Given the description of an element on the screen output the (x, y) to click on. 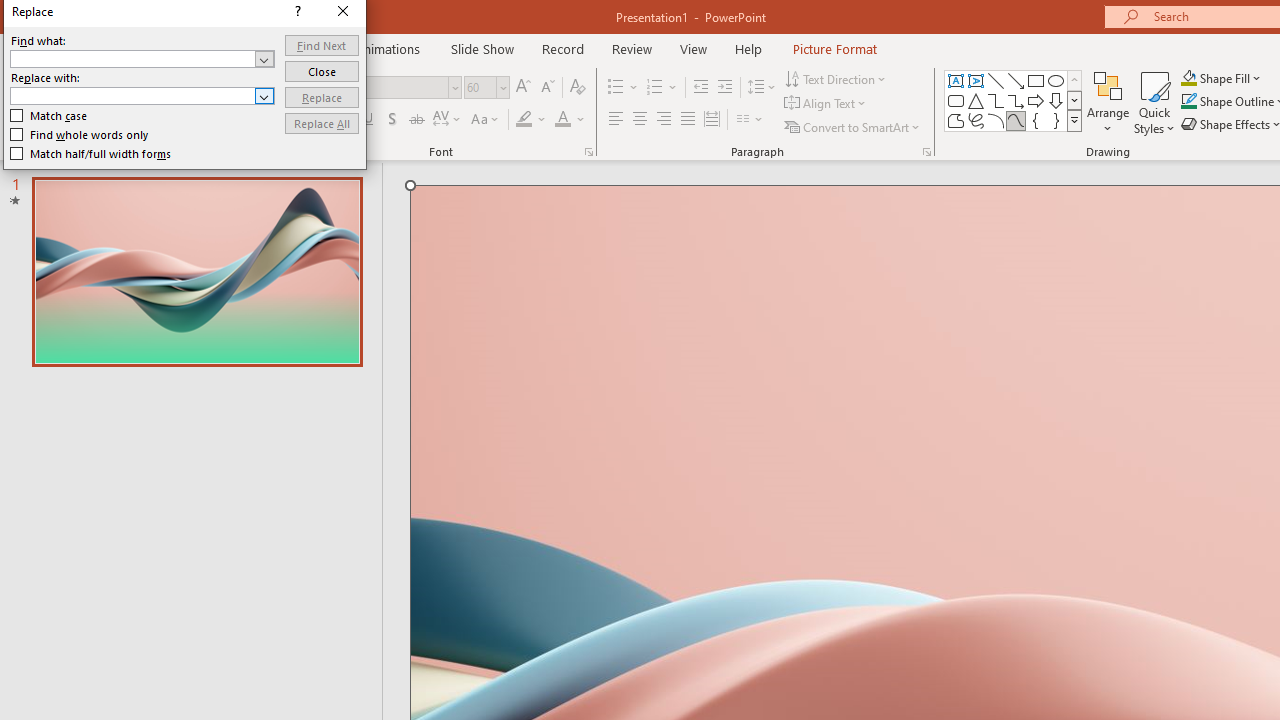
Align Text (826, 103)
Connector: Elbow Arrow (1016, 100)
Arrow: Right (1035, 100)
Vertical Text Box (975, 80)
Picture Format (834, 48)
Decrease Indent (700, 87)
Replace (321, 96)
Strikethrough (416, 119)
Paragraph... (926, 151)
Connector: Elbow (995, 100)
